Given the description of an element on the screen output the (x, y) to click on. 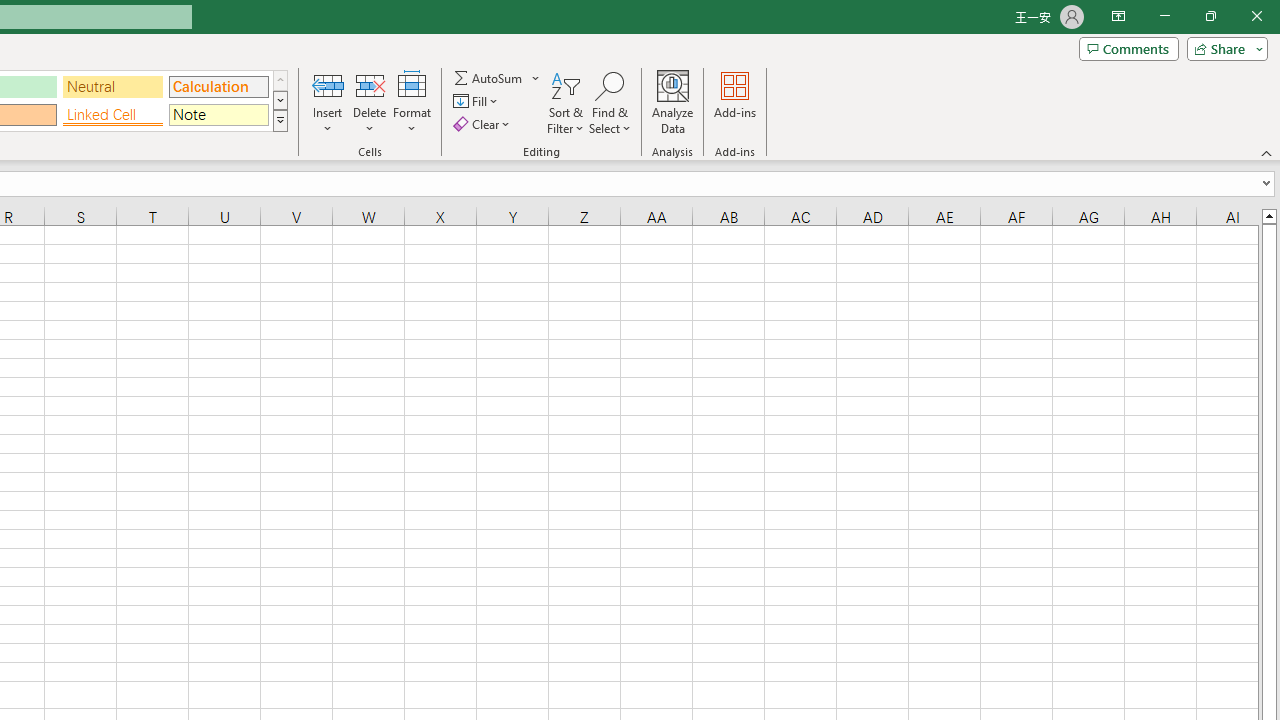
Delete (369, 102)
Linked Cell (113, 114)
Note (218, 114)
Format (411, 102)
Comments (1128, 48)
Sort & Filter (566, 102)
Close (1256, 16)
Class: NetUIImage (280, 120)
Calculation (218, 86)
Insert (328, 102)
Minimize (1164, 16)
Fill (477, 101)
Row Down (280, 100)
Row up (280, 79)
